Given the description of an element on the screen output the (x, y) to click on. 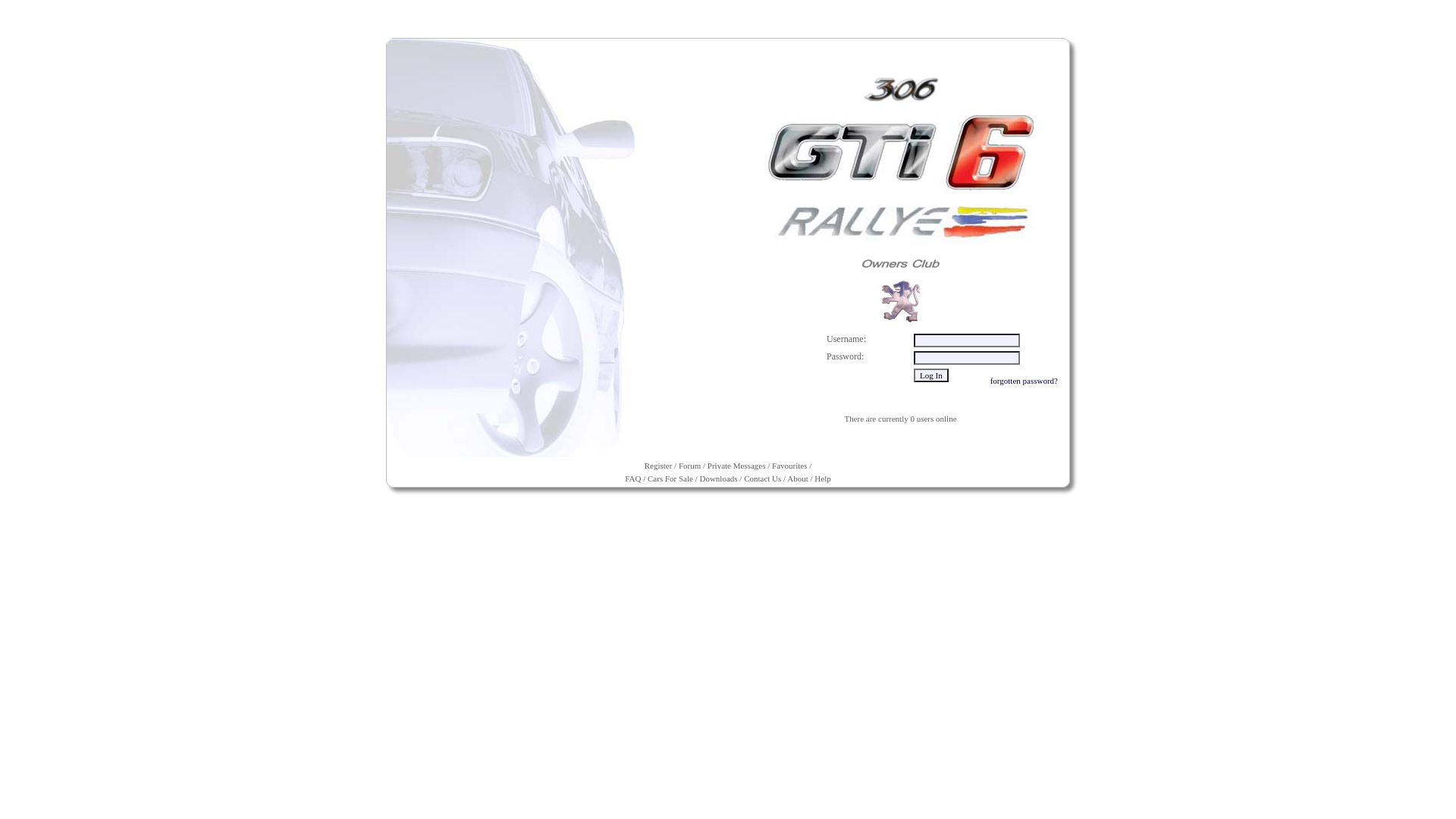
Private Messages Element type: text (736, 465)
/ Element type: text (784, 478)
Forum Element type: text (689, 465)
Favourites Element type: text (788, 465)
Downloads Element type: text (718, 478)
FAQ Element type: text (632, 478)
Cars For Sale Element type: text (670, 478)
About Element type: text (797, 478)
Register Element type: text (658, 465)
Help Element type: text (822, 478)
Contact Us Element type: text (762, 478)
forgotten password? Element type: text (1023, 380)
Log In Element type: text (930, 375)
